Given the description of an element on the screen output the (x, y) to click on. 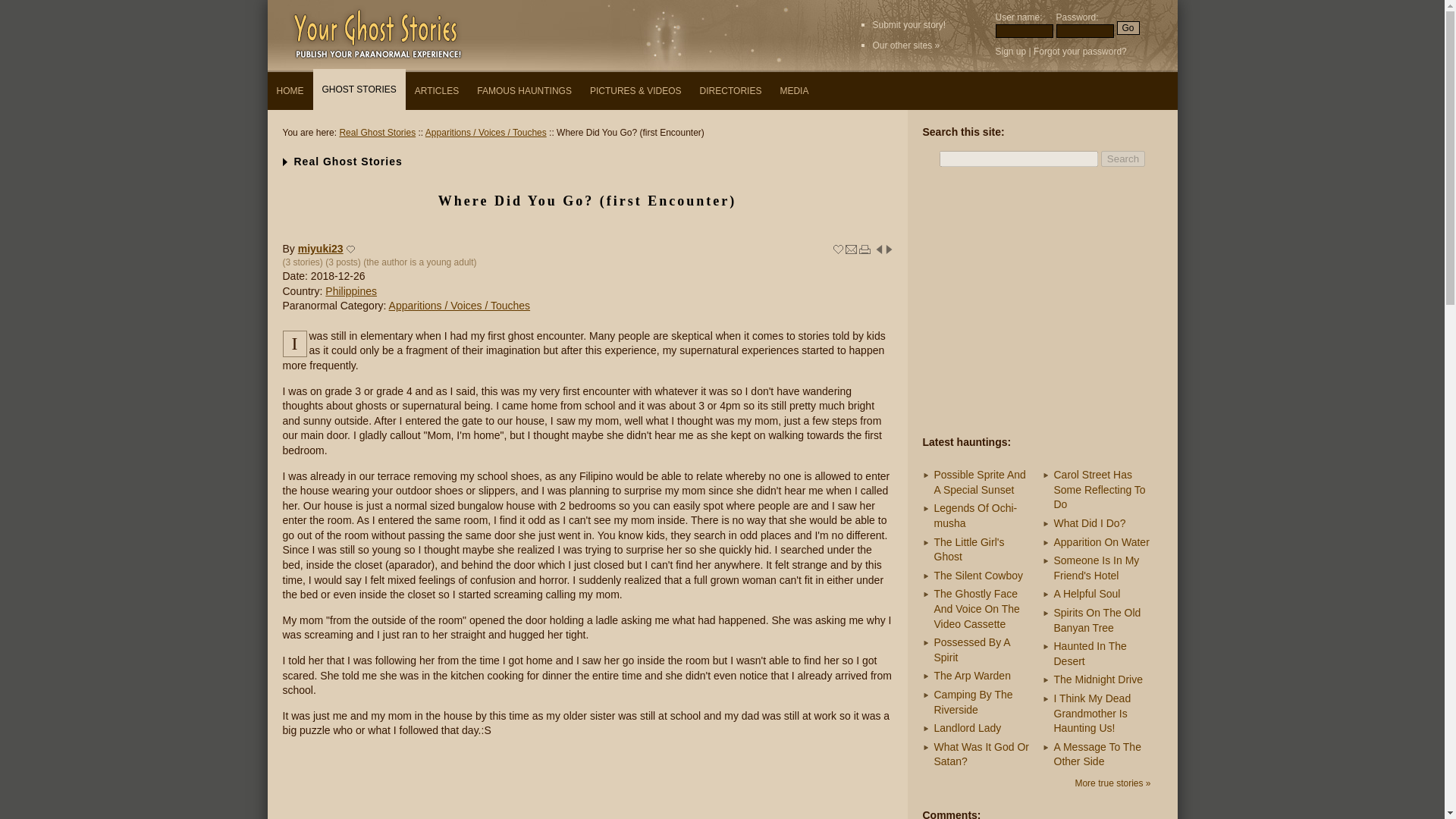
Go (1127, 28)
Add miyuki23 to your favorite people (350, 248)
Forgot your password (1077, 50)
Search (1122, 158)
FAMOUS HAUNTINGS (523, 90)
Send this story to a friend (851, 248)
Submit your story! (908, 24)
Sign up (1010, 50)
HOME (289, 90)
Print this story (864, 248)
MEDIA (793, 90)
Advertisement (587, 786)
Send this story to a friend (851, 248)
DIRECTORIES (730, 90)
Go (1127, 28)
